Given the description of an element on the screen output the (x, y) to click on. 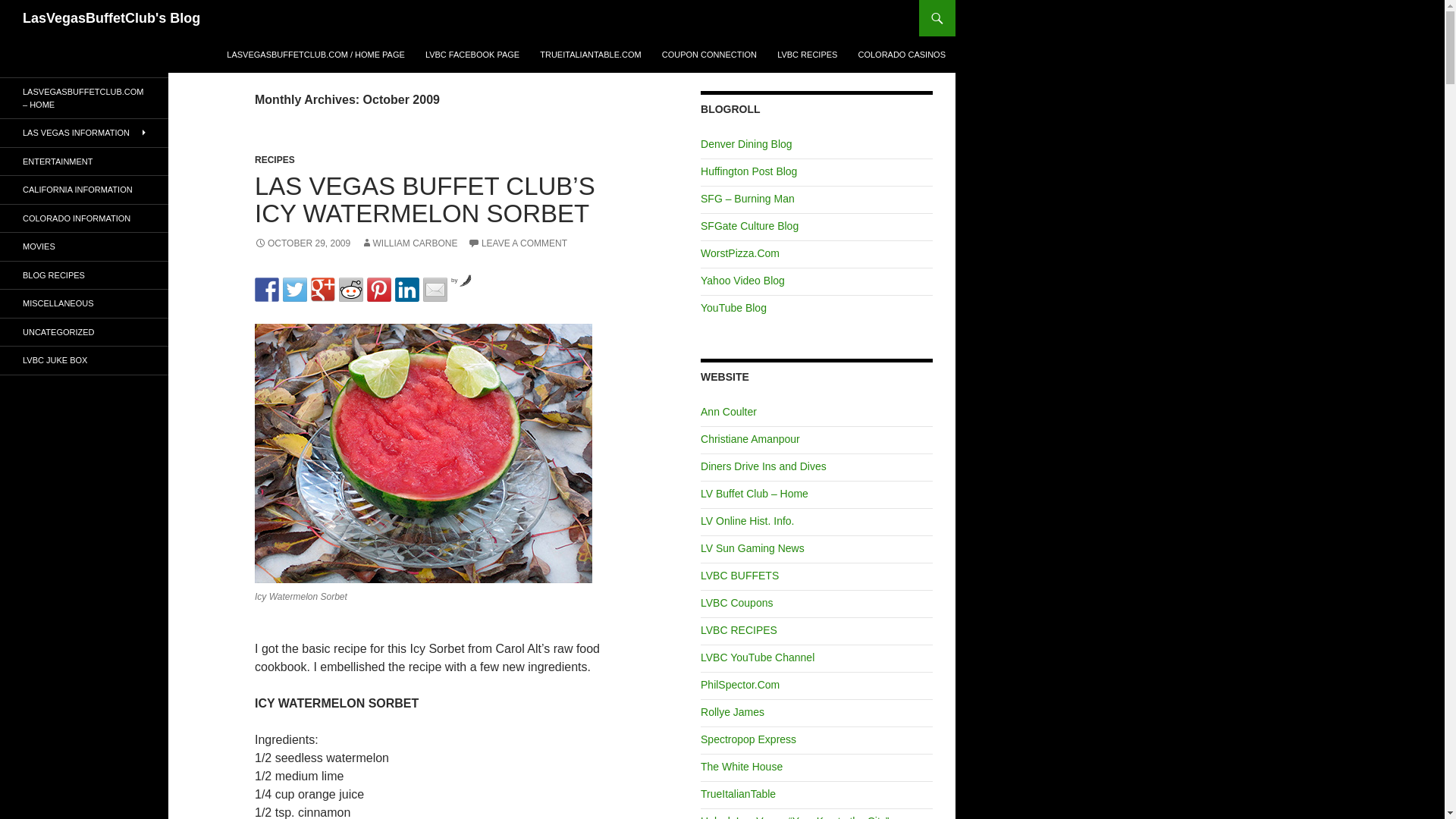
WILLIAM CARBONE (409, 243)
LEAVE A COMMENT (517, 243)
Share by email (434, 289)
Pin it with Pinterest (378, 289)
by (461, 279)
COUPON CONNECTION (708, 54)
Share on Facebook (266, 289)
OCTOBER 29, 2009 (302, 243)
LVBC RECIPES (806, 54)
TRUEITALIANTABLE.COM (590, 54)
LVBC FACEBOOK PAGE (472, 54)
LasVegasBuffetClub's Blog (111, 18)
Share on Twitter (294, 289)
Share on Reddit (350, 289)
